Given the description of an element on the screen output the (x, y) to click on. 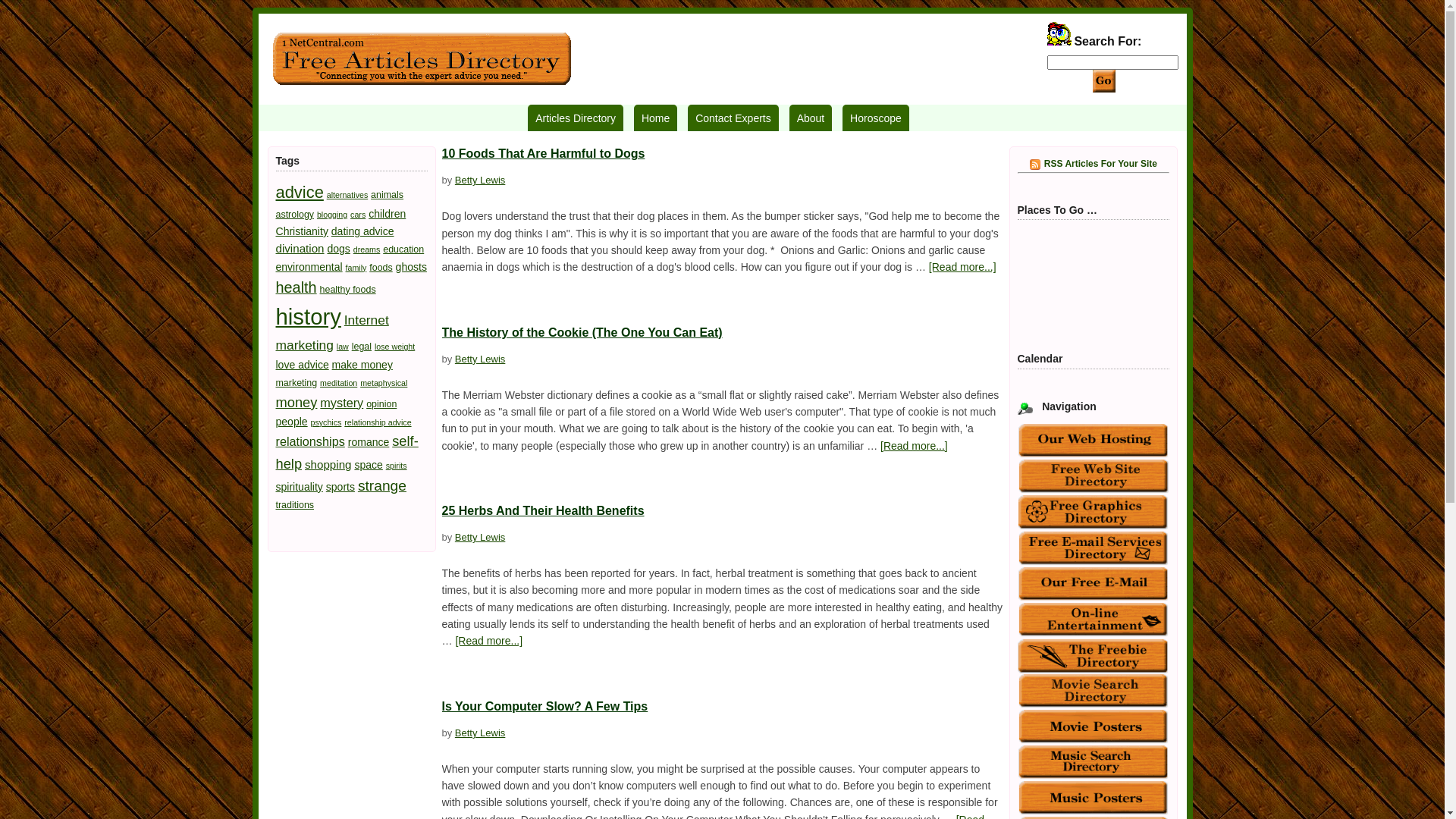
opinion Element type: text (381, 403)
Betty Lewis Element type: text (480, 536)
shopping Element type: text (327, 464)
Horoscope Element type: text (875, 117)
mystery Element type: text (341, 402)
Home Element type: text (655, 117)
meditation Element type: text (338, 382)
money Element type: text (296, 402)
10 Newest Articles RSS Feed Element type: hover (1035, 164)
relationships Element type: text (310, 441)
[Read more...] Element type: text (488, 640)
psychics Element type: text (326, 421)
family Element type: text (356, 267)
Contact Experts Element type: text (732, 117)
divination Element type: text (300, 247)
law Element type: text (342, 346)
10 Foods That Are Harmful to Dogs Element type: text (542, 153)
strange Element type: text (381, 485)
spirits Element type: text (396, 465)
About Element type: text (810, 117)
sports Element type: text (340, 486)
[Read more...] Element type: text (913, 445)
children Element type: text (386, 213)
marketing Element type: text (296, 382)
make money Element type: text (362, 364)
alternatives Element type: text (347, 194)
ghosts Element type: text (410, 266)
relationship advice Element type: text (377, 421)
cars Element type: text (357, 214)
dating advice Element type: text (362, 231)
foods Element type: text (380, 267)
education Element type: text (402, 249)
dreams Element type: text (366, 249)
Is Your Computer Slow? A Few Tips Element type: text (544, 705)
advice Element type: text (299, 191)
self-help Element type: text (347, 451)
romance Element type: text (368, 442)
 RSS Articles For Your Site Element type: text (1093, 162)
health Element type: text (296, 287)
Betty Lewis Element type: text (480, 732)
The History of the Cookie (The One You Can Eat) Element type: text (581, 332)
blogging Element type: text (331, 214)
Betty Lewis Element type: text (480, 179)
environmental Element type: text (309, 266)
astrology Element type: text (295, 214)
space Element type: text (368, 464)
Betty Lewis Element type: text (480, 358)
25 Herbs And Their Health Benefits Element type: text (542, 510)
lose weight Element type: text (394, 346)
healthy foods Element type: text (348, 289)
traditions Element type: text (295, 504)
history Element type: text (308, 316)
Internet marketing Element type: text (332, 332)
Articles Directory Element type: text (575, 117)
love advice Element type: text (302, 364)
spirituality Element type: text (299, 486)
dogs Element type: text (337, 248)
1 NetCentral Element type: text (421, 58)
[Read more...] Element type: text (962, 266)
Christianity Element type: text (302, 231)
people Element type: text (291, 421)
animals Element type: text (386, 194)
metaphysical Element type: text (383, 382)
legal Element type: text (361, 346)
